Given the description of an element on the screen output the (x, y) to click on. 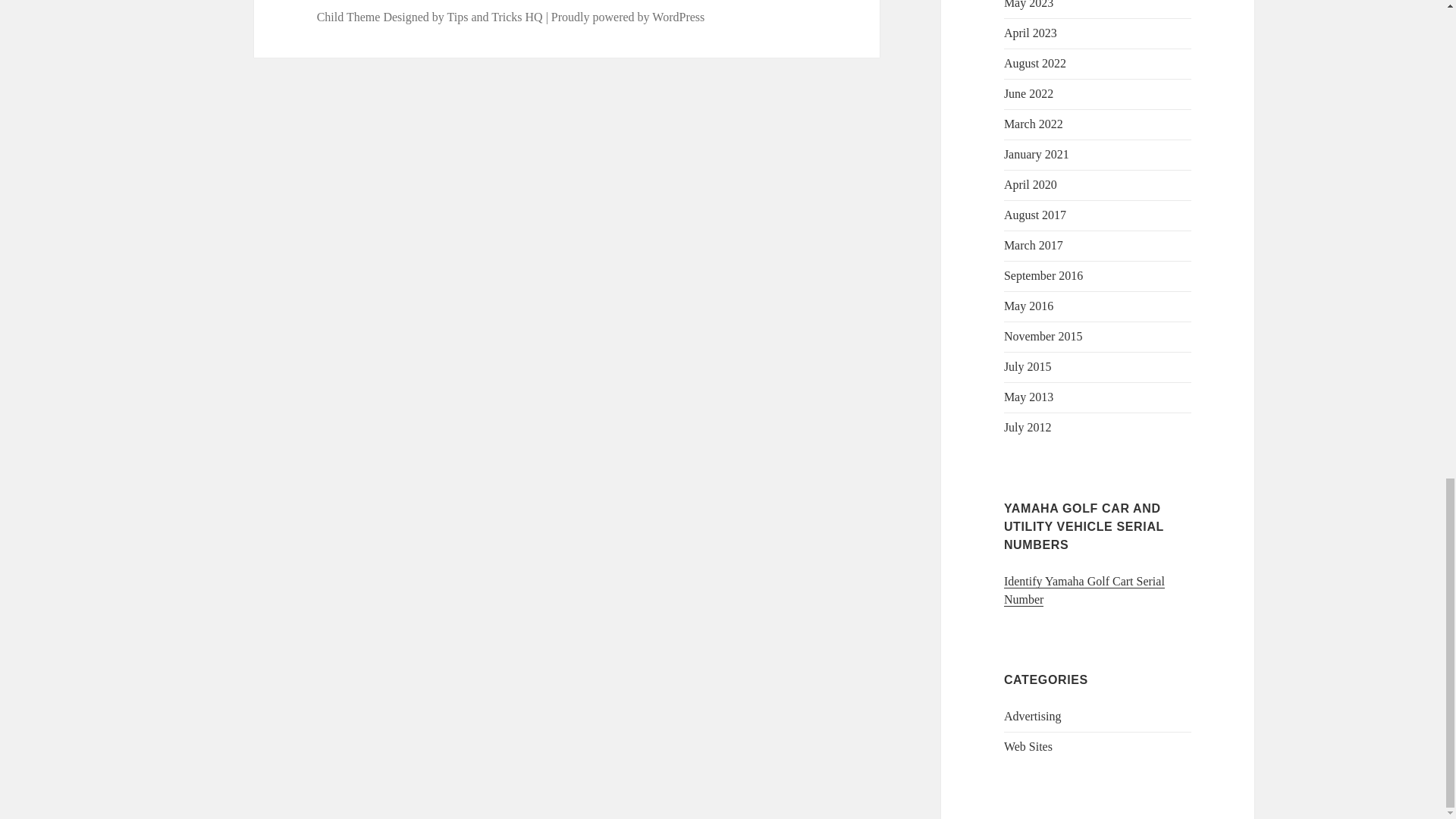
Advertising (1032, 716)
January 2021 (1036, 154)
May 2023 (1028, 4)
August 2017 (1034, 214)
Web Sites (1028, 746)
November 2015 (1043, 336)
August 2022 (1034, 62)
May 2013 (1028, 396)
June 2022 (1028, 92)
Identify Yamaha Golf Cart Serial Number (1084, 590)
